Given the description of an element on the screen output the (x, y) to click on. 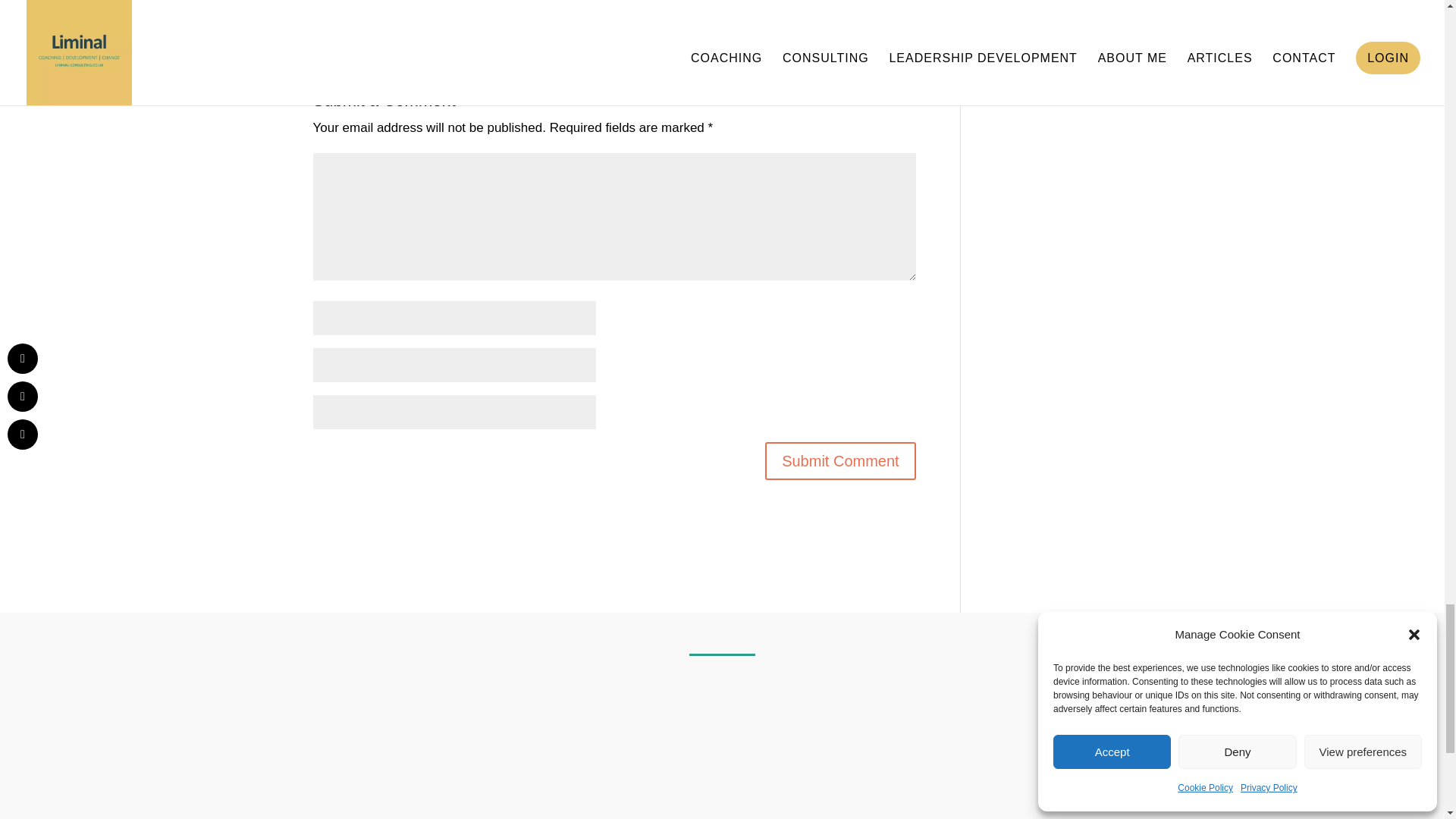
Submit Comment (840, 460)
